Given the description of an element on the screen output the (x, y) to click on. 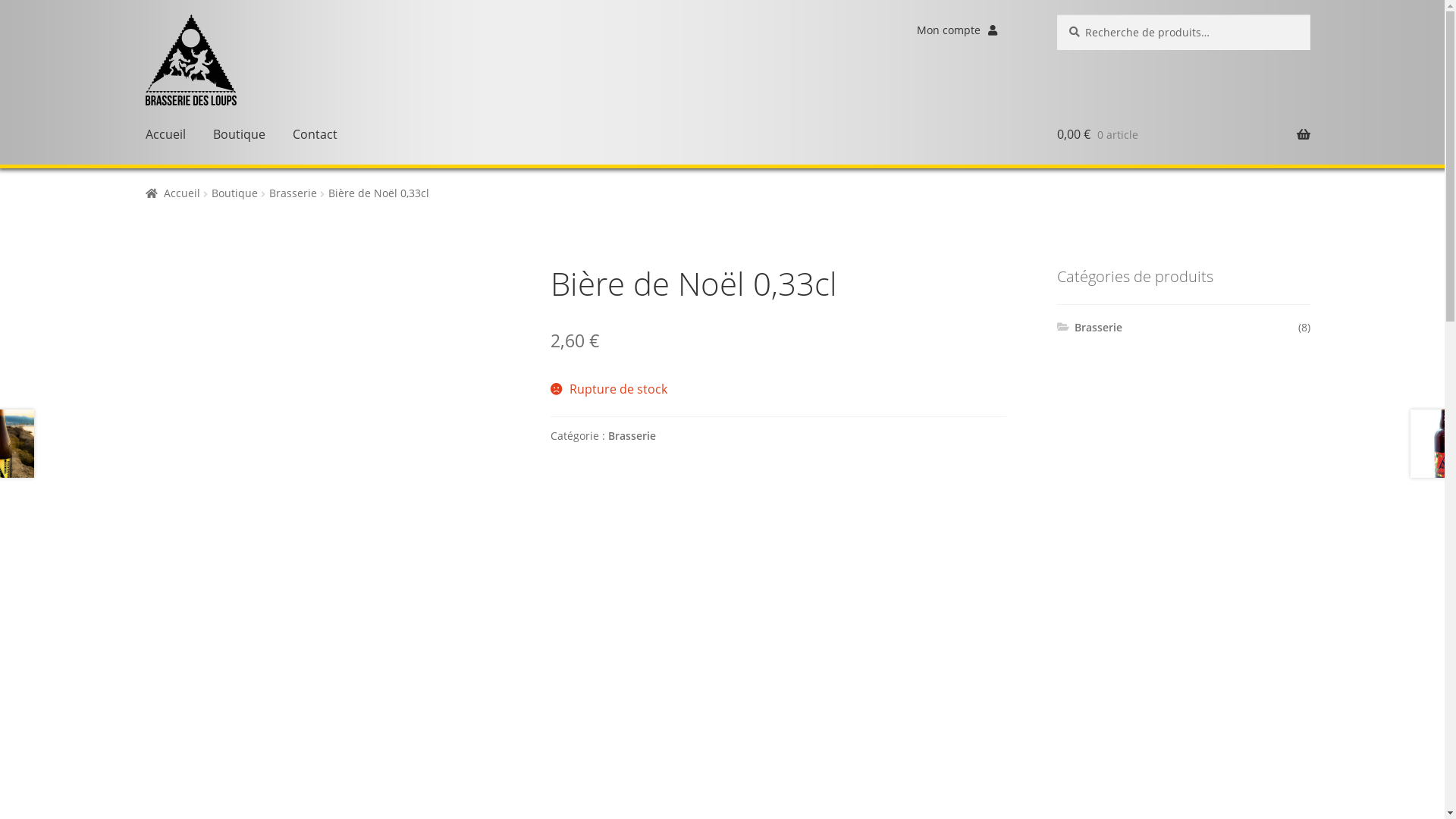
Recherche Element type: text (1056, 13)
Brasserie Element type: text (631, 435)
Accueil Element type: text (172, 192)
Boutique Element type: text (238, 134)
Mon compte Element type: text (956, 30)
Boutique Element type: text (234, 192)
Brasserie Element type: text (292, 192)
Accueil Element type: text (165, 134)
Contact Element type: text (314, 134)
Brasserie Element type: text (1098, 327)
